Given the description of an element on the screen output the (x, y) to click on. 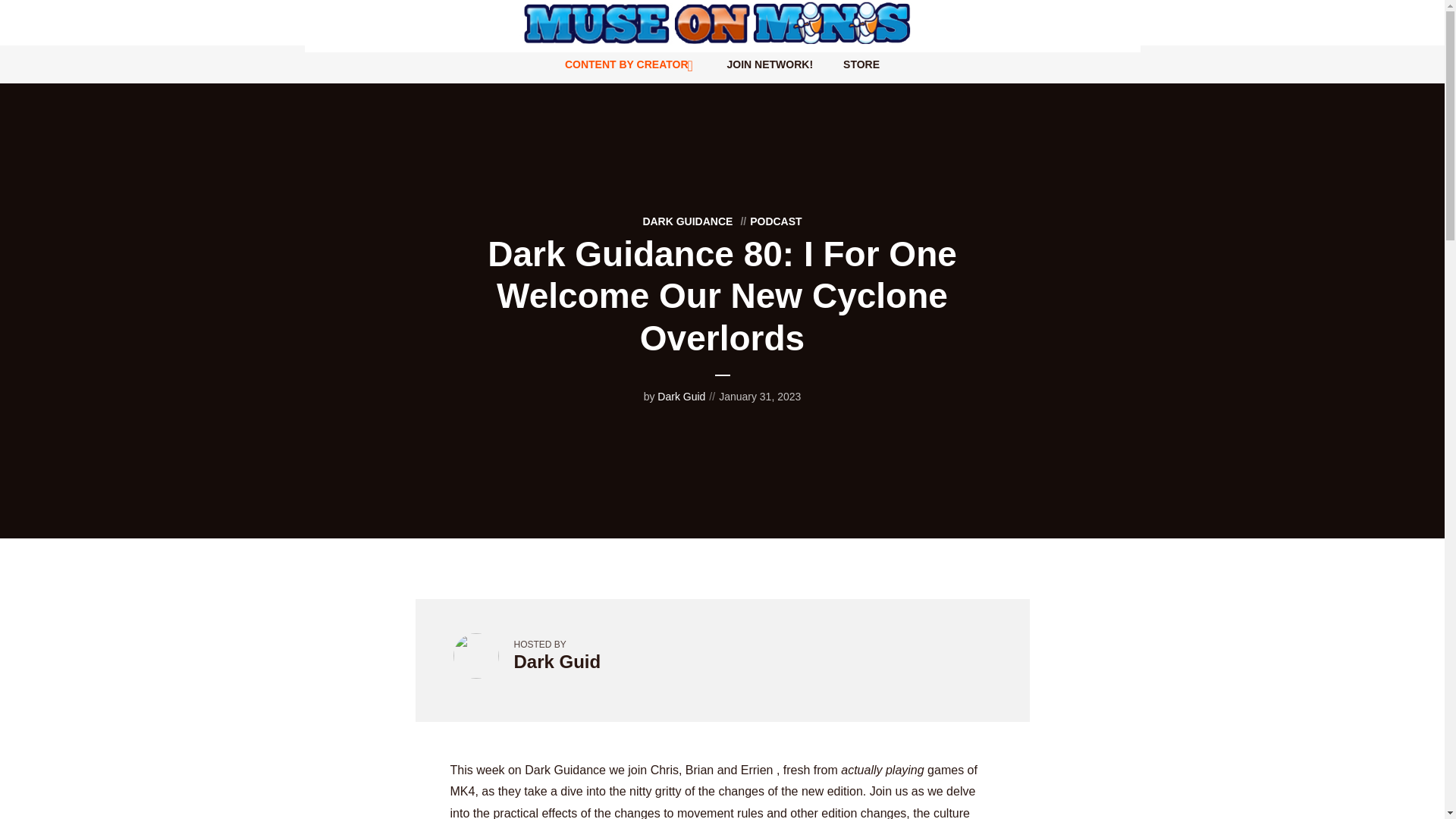
Dark Guid (681, 396)
JOIN NETWORK! (769, 64)
DARK GUIDANCE (687, 221)
CONTENT BY CREATOR (630, 64)
Dark Guid (557, 661)
STORE (861, 64)
PODCAST (769, 221)
